Given the description of an element on the screen output the (x, y) to click on. 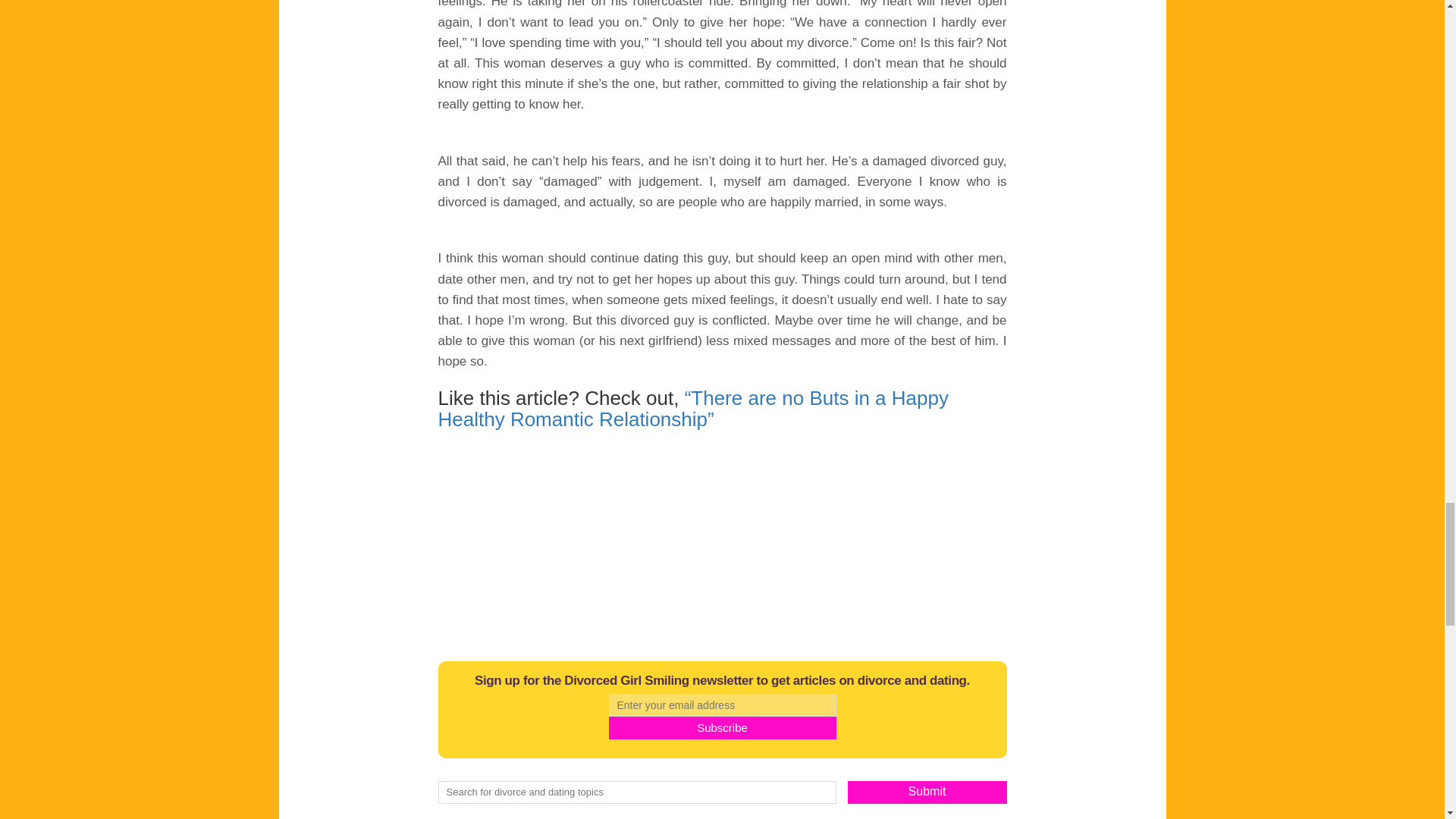
Submit (927, 792)
Submit (927, 792)
Subscribe (721, 727)
